Given the description of an element on the screen output the (x, y) to click on. 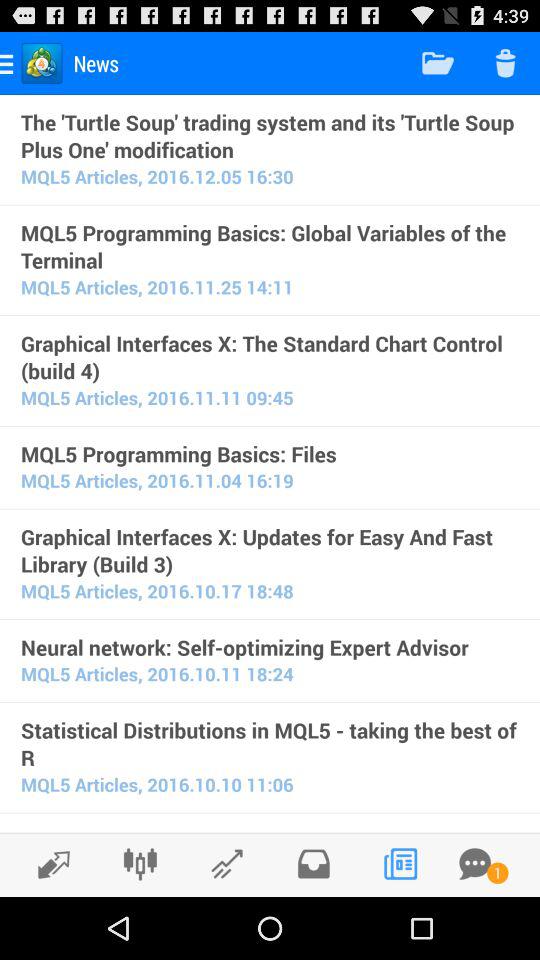
click icon below the mql5 articles 2016 (270, 743)
